Given the description of an element on the screen output the (x, y) to click on. 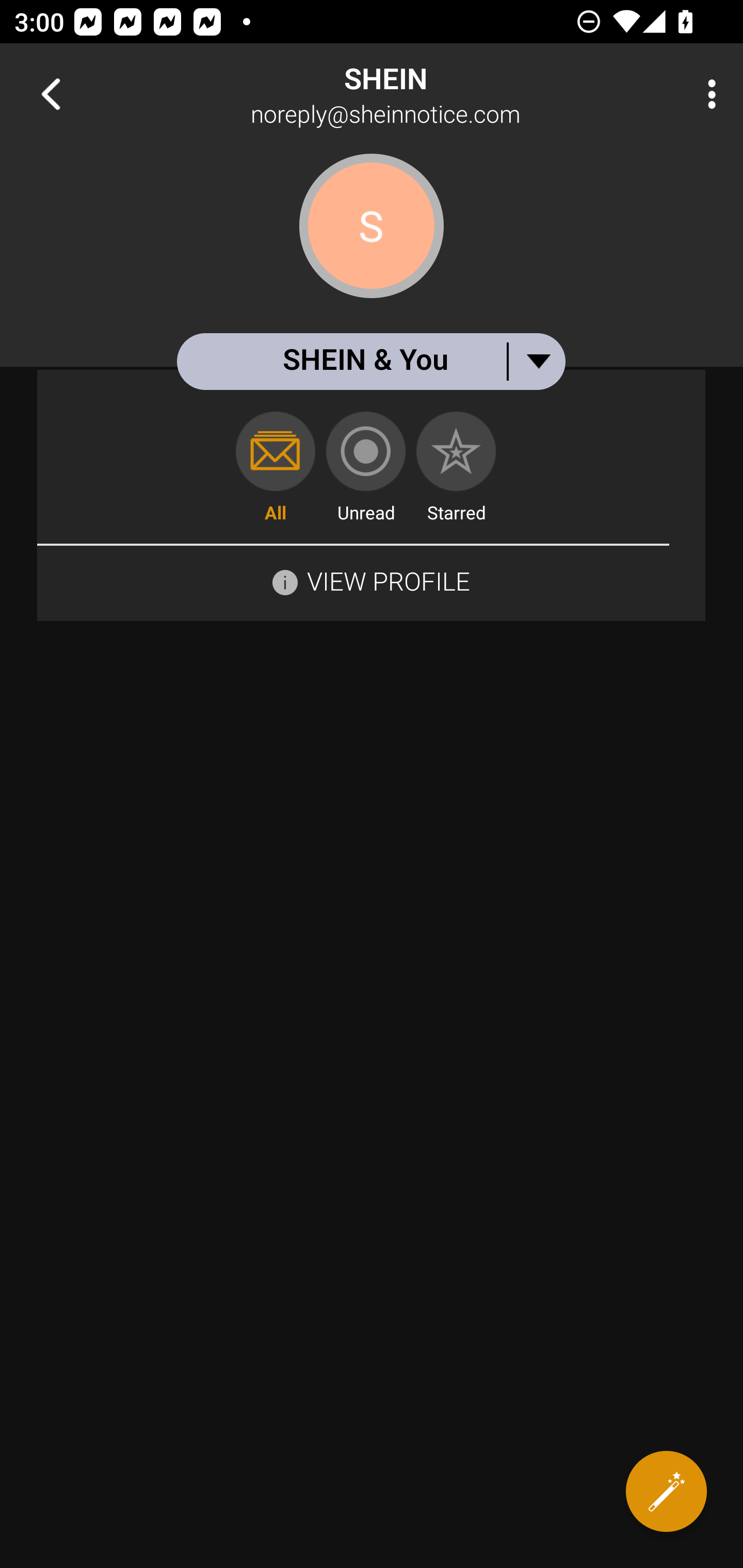
VIEW PROFILE (371, 580)
VIEW PROFILE (388, 580)
